Given the description of an element on the screen output the (x, y) to click on. 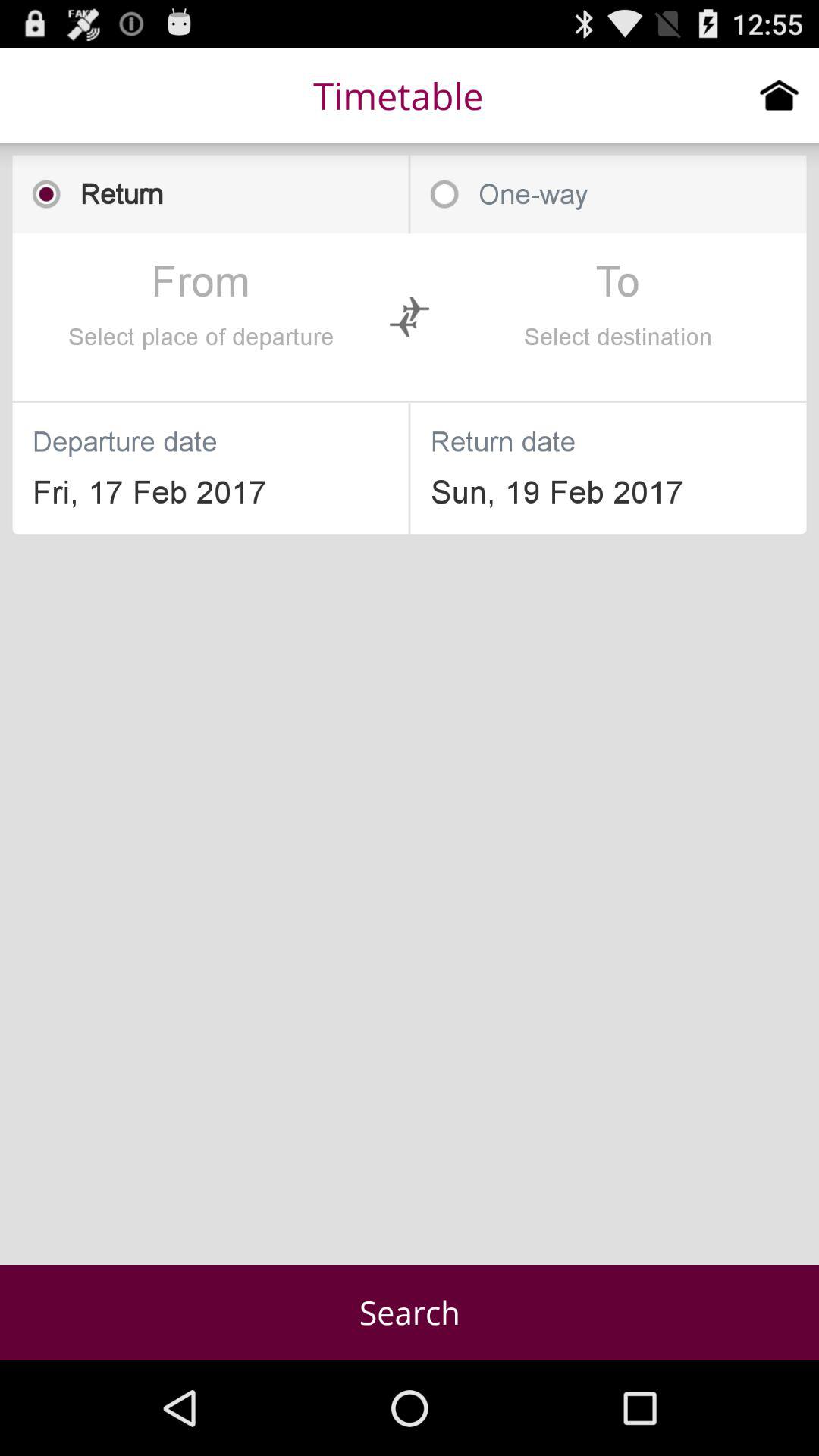
launch item above to item (608, 194)
